Given the description of an element on the screen output the (x, y) to click on. 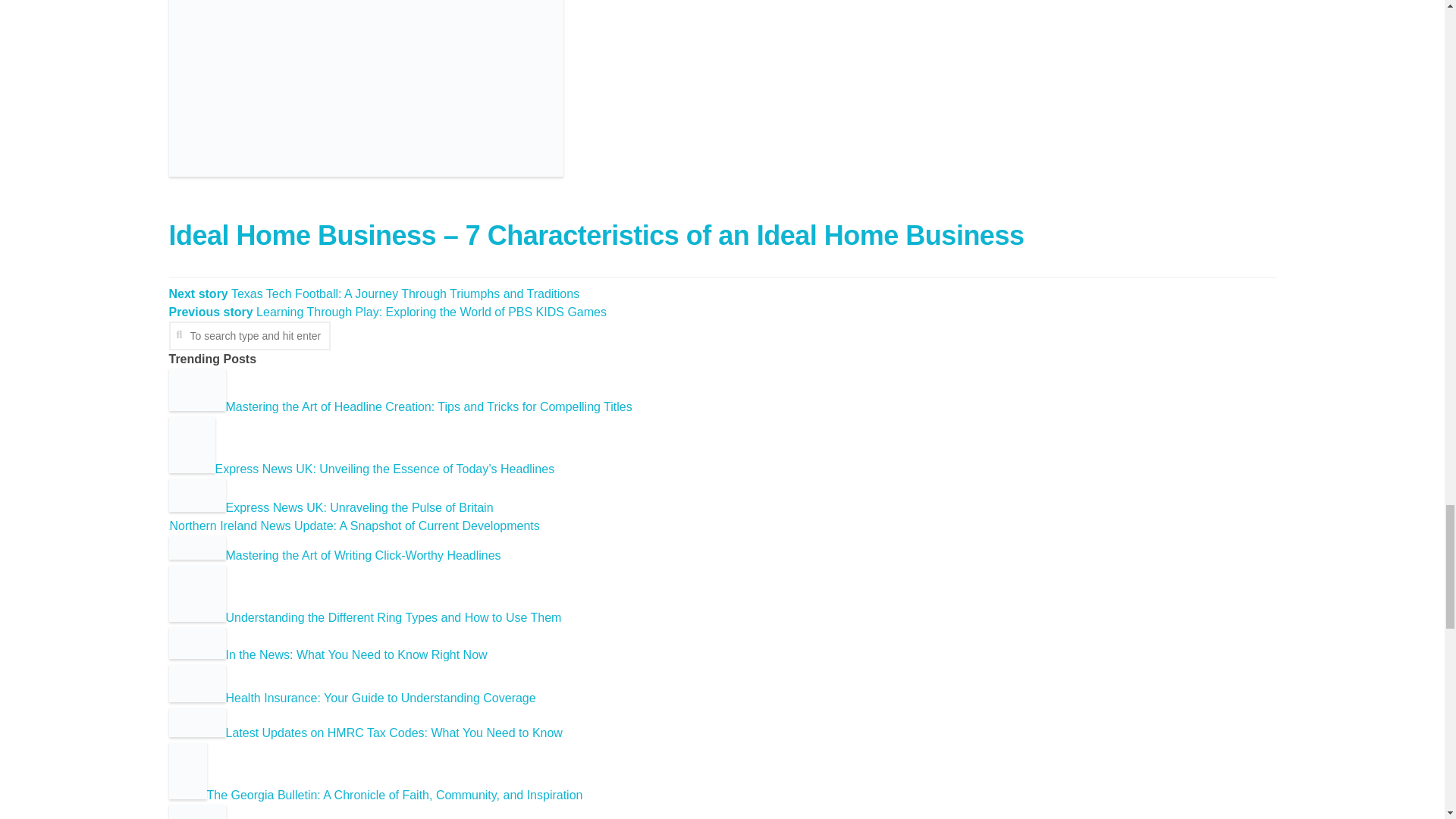
Latest Updates on HMRC Tax Codes: What You Need to Know (365, 732)
Health Insurance: Your Guide to Understanding Coverage (351, 697)
Express News UK: Unraveling the Pulse of Britain (330, 507)
Understanding the Different Ring Types and How to Use Them (364, 617)
To search type and hit enter (249, 335)
In the News: What You Need to Know Right Now (327, 654)
Mastering the Art of Writing Click-Worthy Headlines (334, 554)
To search type and hit enter (249, 335)
